Given the description of an element on the screen output the (x, y) to click on. 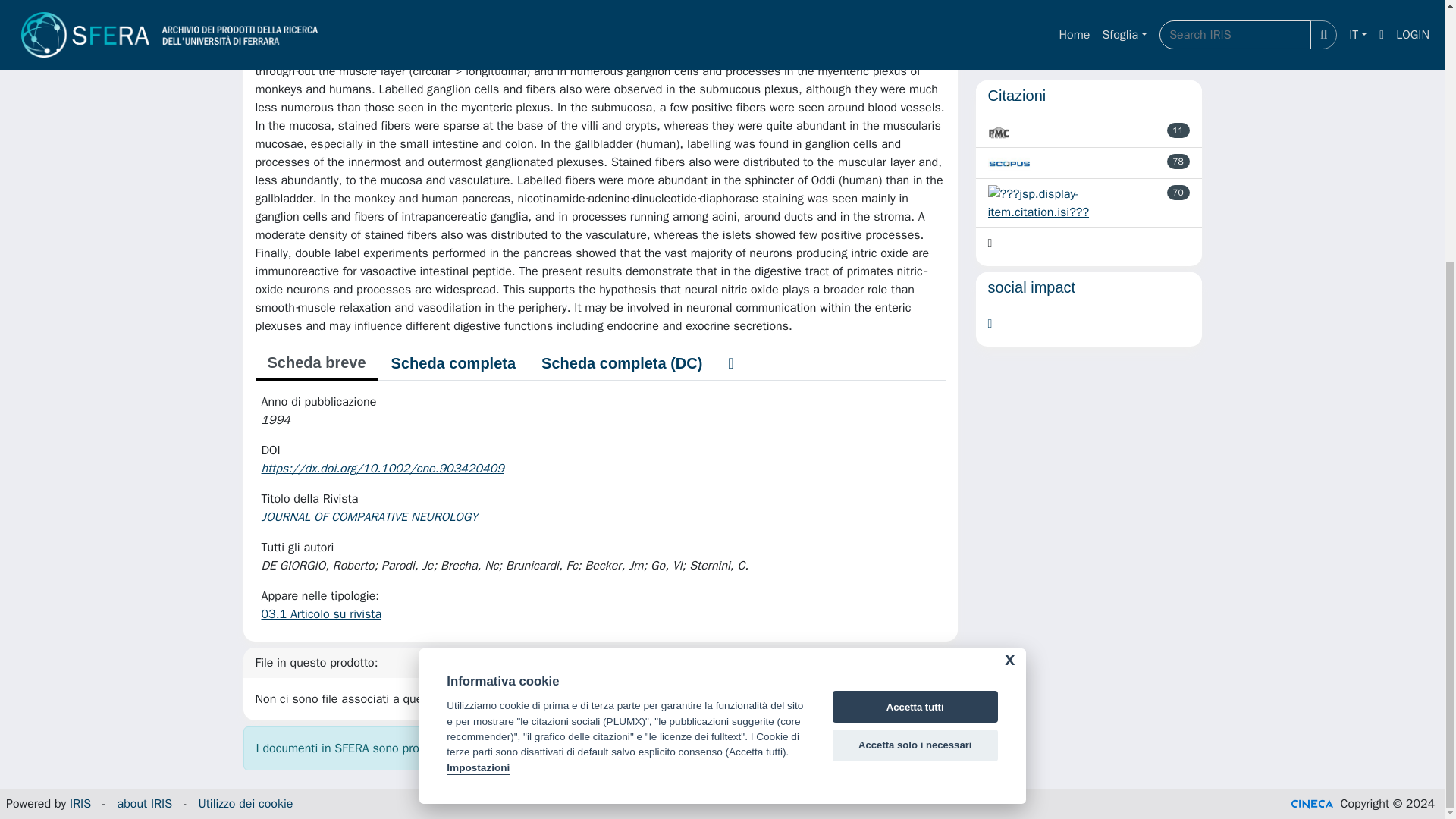
03.1 Articolo su rivista (320, 613)
JOURNAL OF COMPARATIVE NEUROLOGY (370, 516)
Scheda completa (453, 363)
Scheda breve (315, 363)
aggiornato in data 21-05-2024 13:01 (1178, 130)
